Given the description of an element on the screen output the (x, y) to click on. 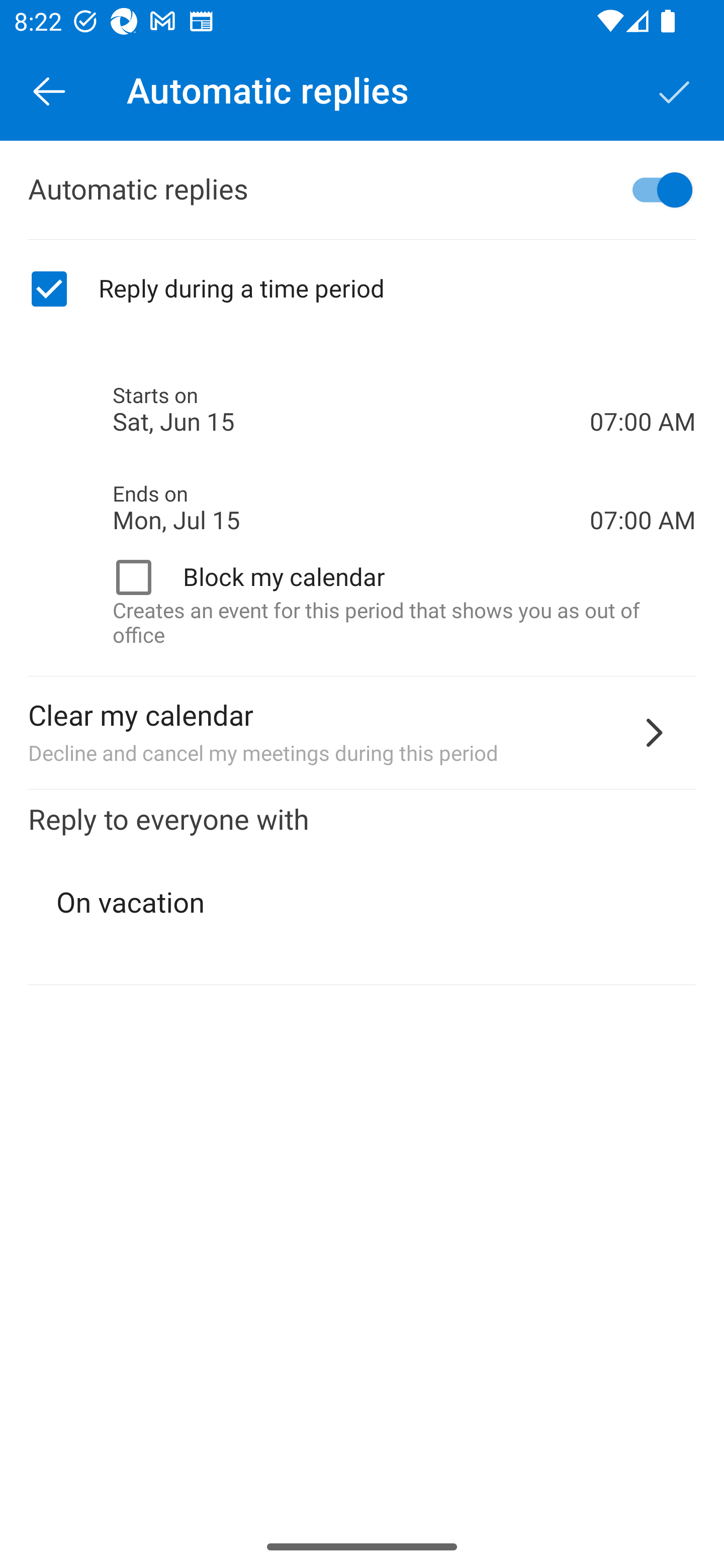
Back (49, 90)
Save (674, 90)
Automatic replies (362, 190)
Reply during a time period (362, 288)
07:00 AM (642, 387)
Starts on Sat, Jun 15 (351, 409)
07:00 AM (642, 485)
Ends on Mon, Jul 15 (351, 507)
Reply to everyone with Edit box (361, 887)
